Given the description of an element on the screen output the (x, y) to click on. 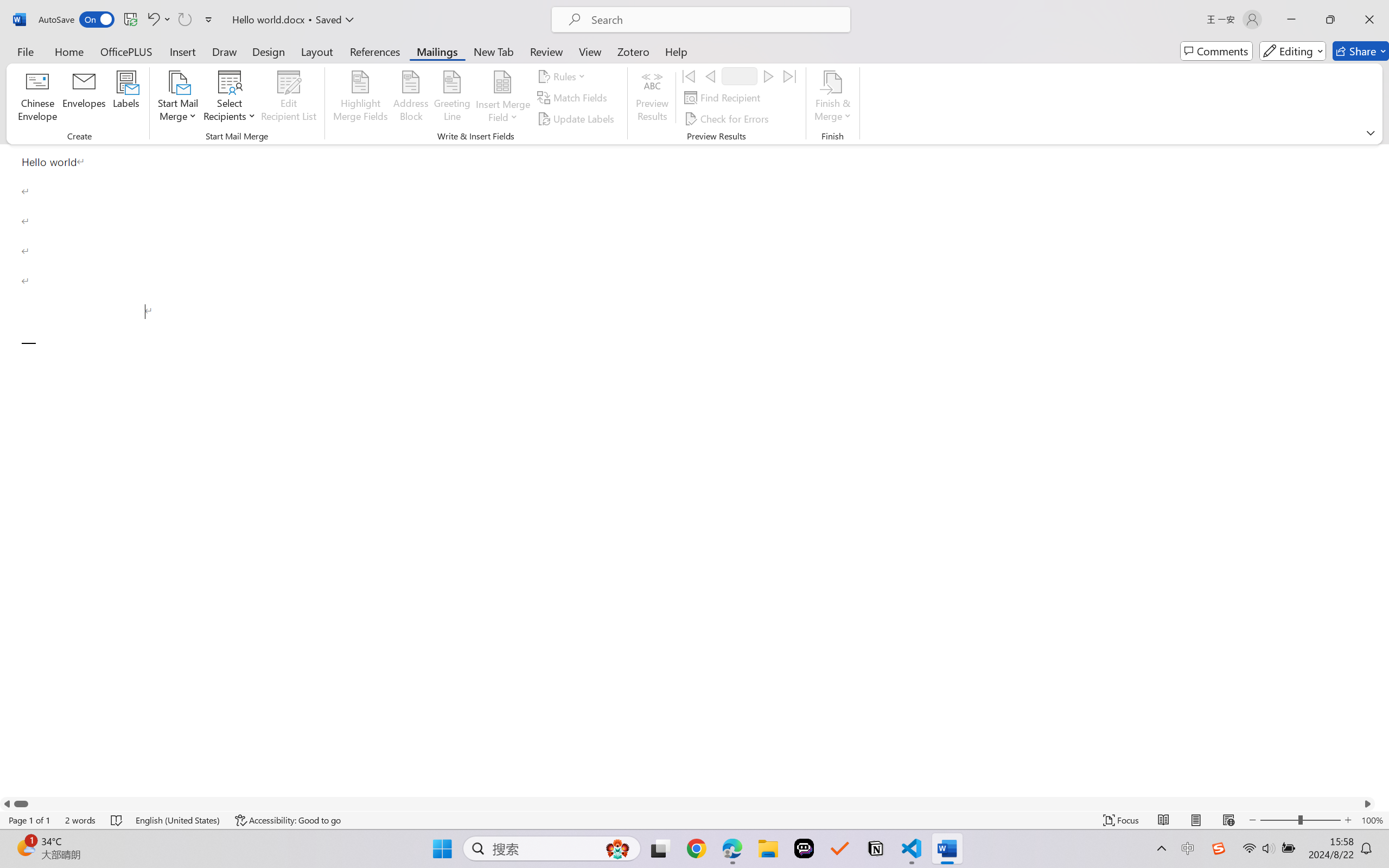
Focus  (1121, 819)
Microsoft search (715, 19)
Layout (316, 51)
Greeting Line... (451, 97)
AutomationID: BadgeAnchorLargeTicker (24, 847)
Next (768, 75)
Record (739, 76)
Customize Quick Access Toolbar (208, 19)
Mailings (437, 51)
Word Count 2 words (80, 819)
Envelopes... (84, 97)
Previous (709, 75)
Spelling and Grammar Check No Errors (117, 819)
Insert Merge Field (502, 81)
